Given the description of an element on the screen output the (x, y) to click on. 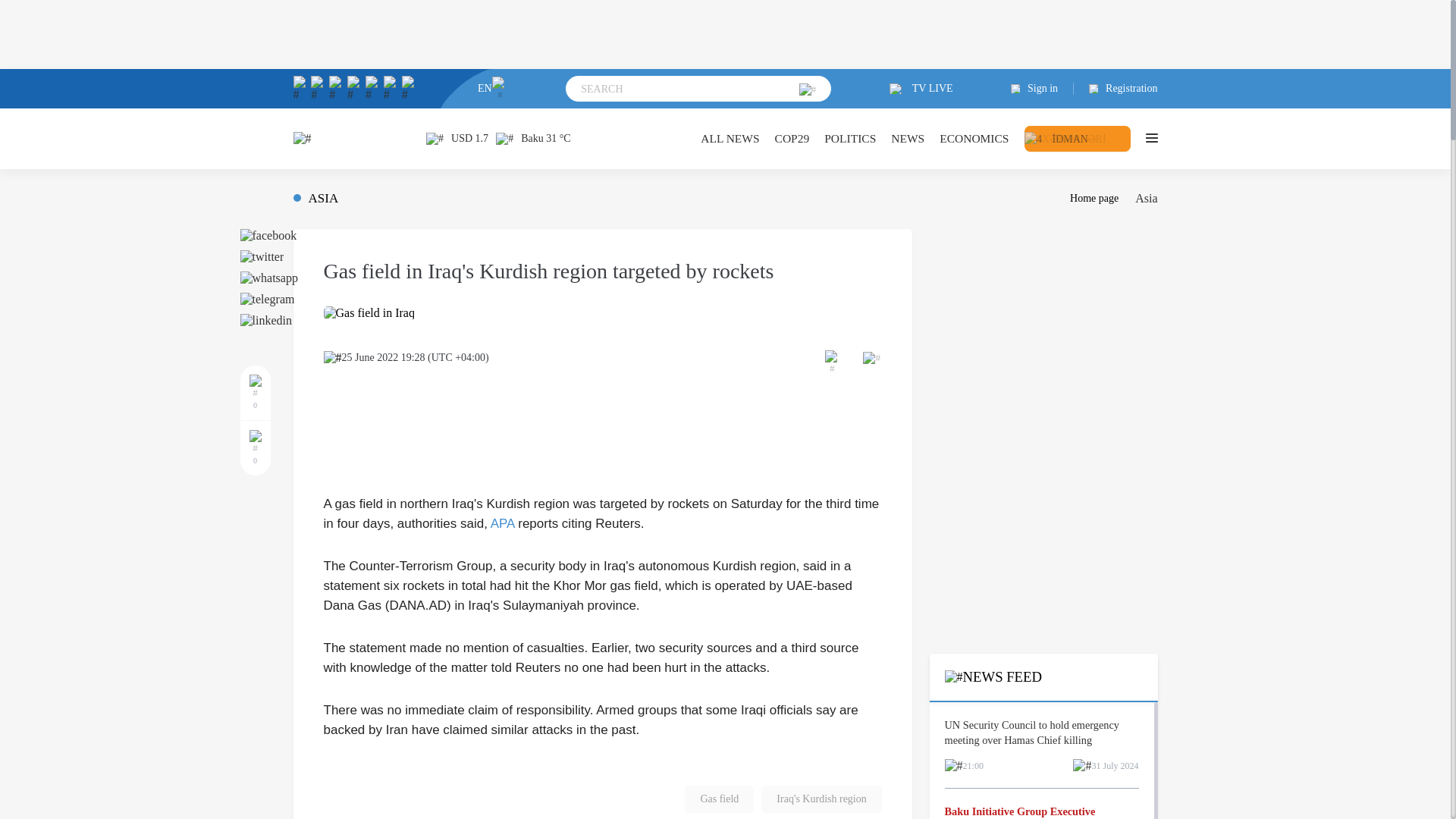
COP29 (791, 138)
POLITICS (850, 138)
TV LIVE (921, 88)
USD 1.7 (456, 138)
Sign in (1042, 88)
ECONOMICS (974, 138)
NEWS (907, 138)
Registration (1115, 88)
ALL NEWS (729, 138)
